Given the description of an element on the screen output the (x, y) to click on. 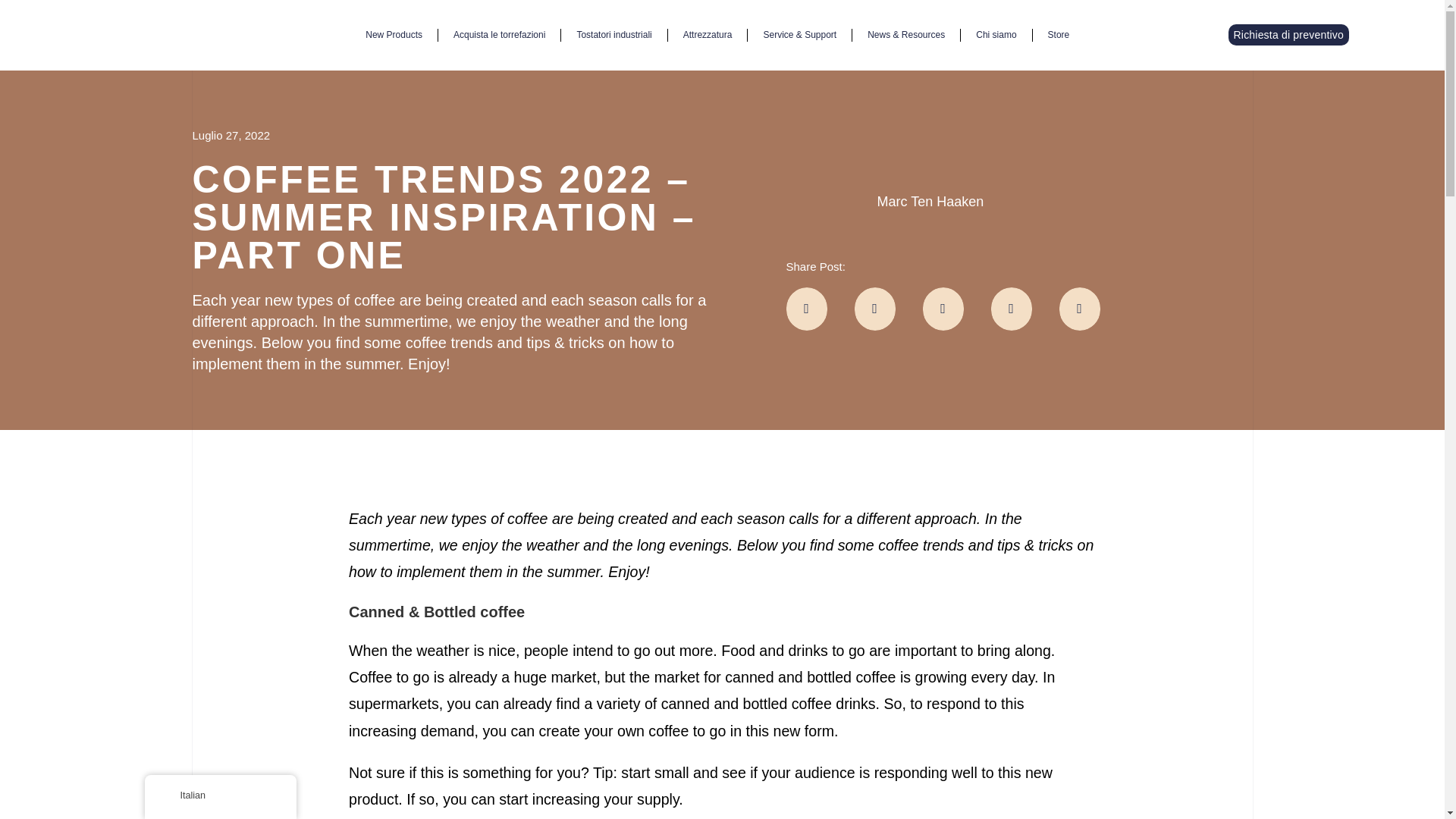
Italian (168, 795)
Tostatori industriali (613, 34)
Acquista le torrefazioni (499, 34)
Attrezzatura (708, 34)
Chi siamo (995, 34)
New Products (394, 34)
